Given the description of an element on the screen output the (x, y) to click on. 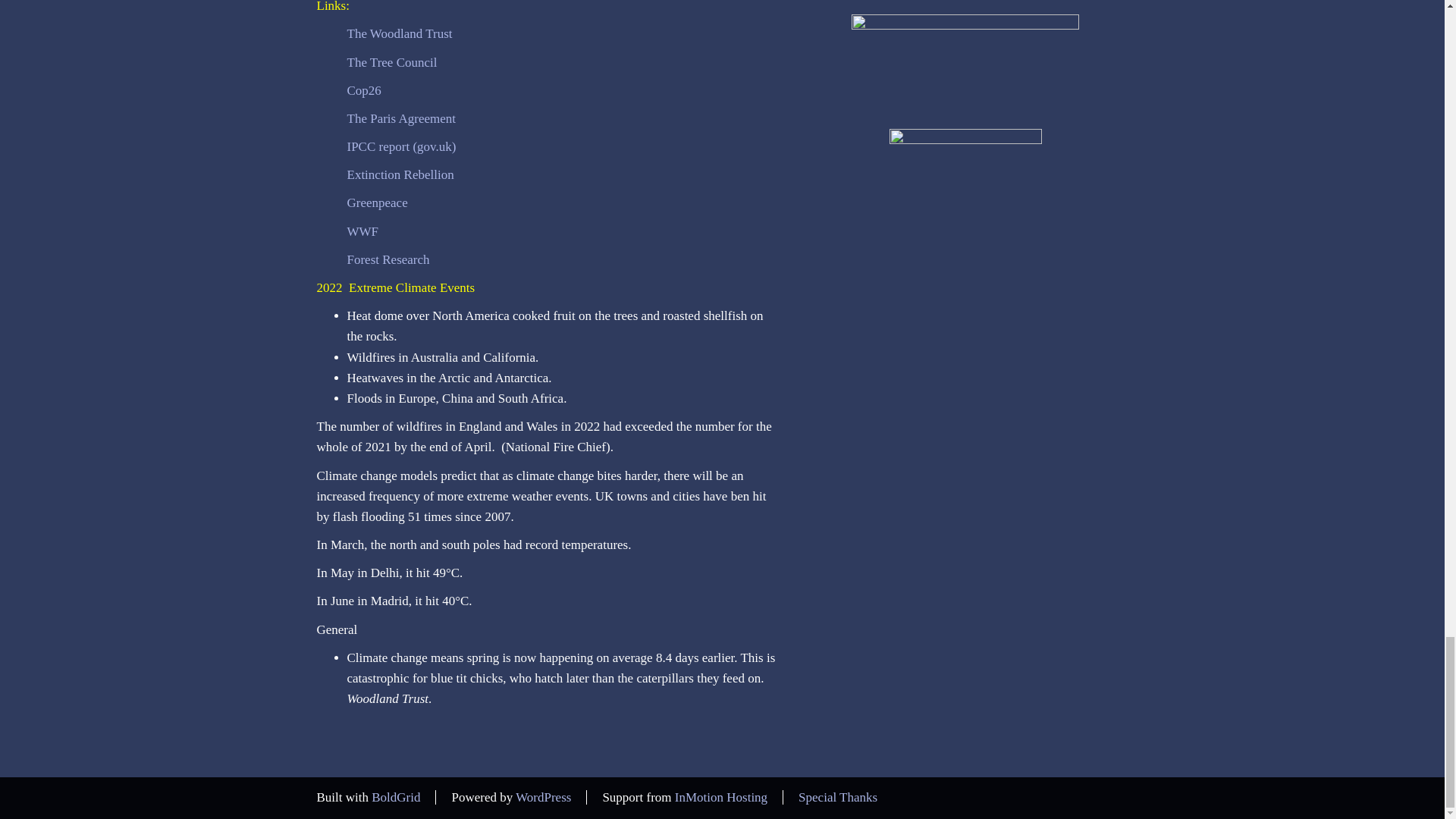
Special Thanks (837, 797)
The Woodland Trust (399, 33)
BoldGrid (395, 797)
Forest Research (388, 259)
WordPress (542, 797)
The Paris Agreement (402, 118)
WWF (362, 231)
Greenpeace (377, 202)
Extinction Rebellion (400, 174)
The Tree Council (392, 62)
Cop26 (364, 90)
InMotion Hosting (721, 797)
